Given the description of an element on the screen output the (x, y) to click on. 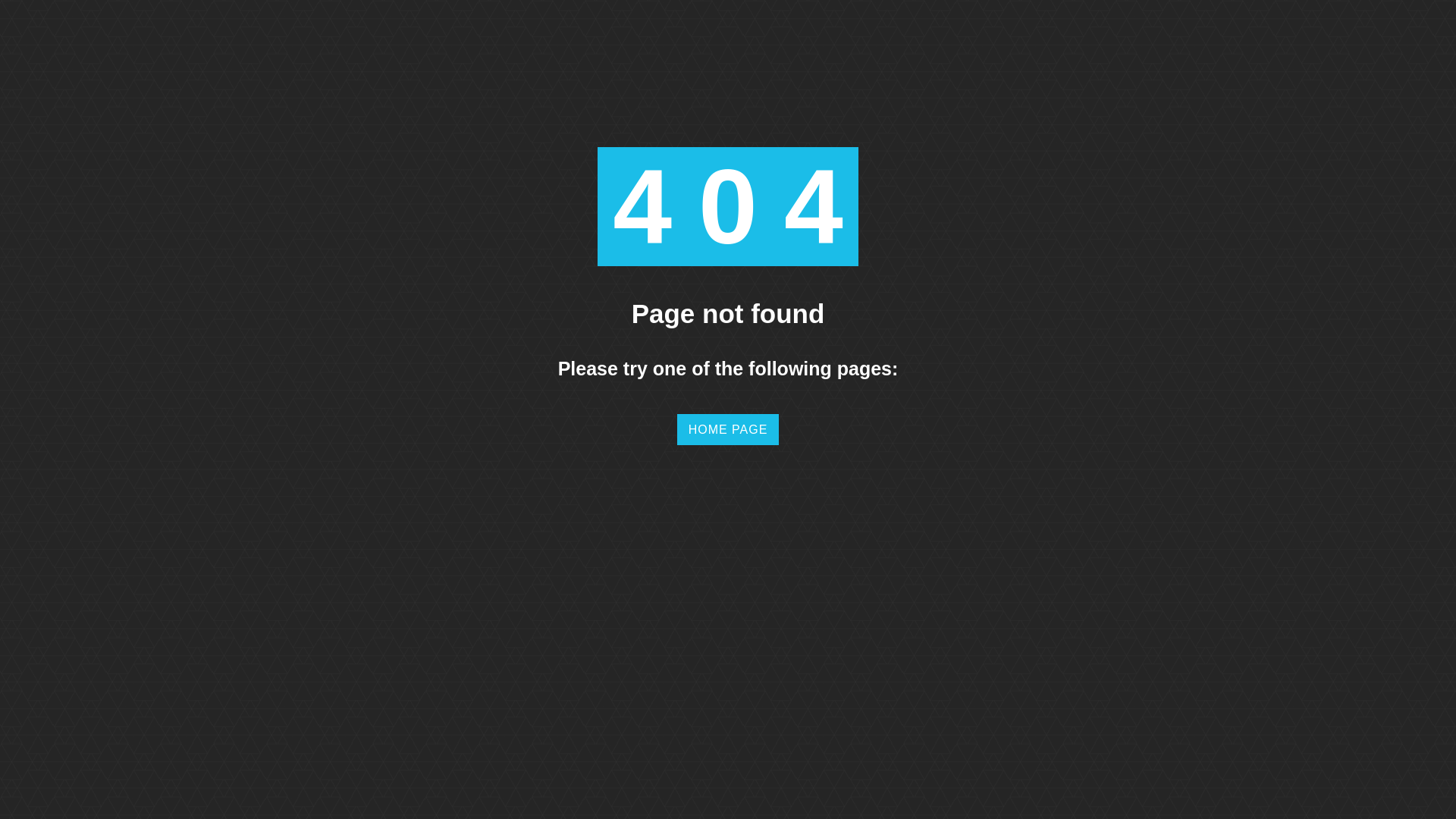
HOME PAGE Element type: text (728, 429)
